Given the description of an element on the screen output the (x, y) to click on. 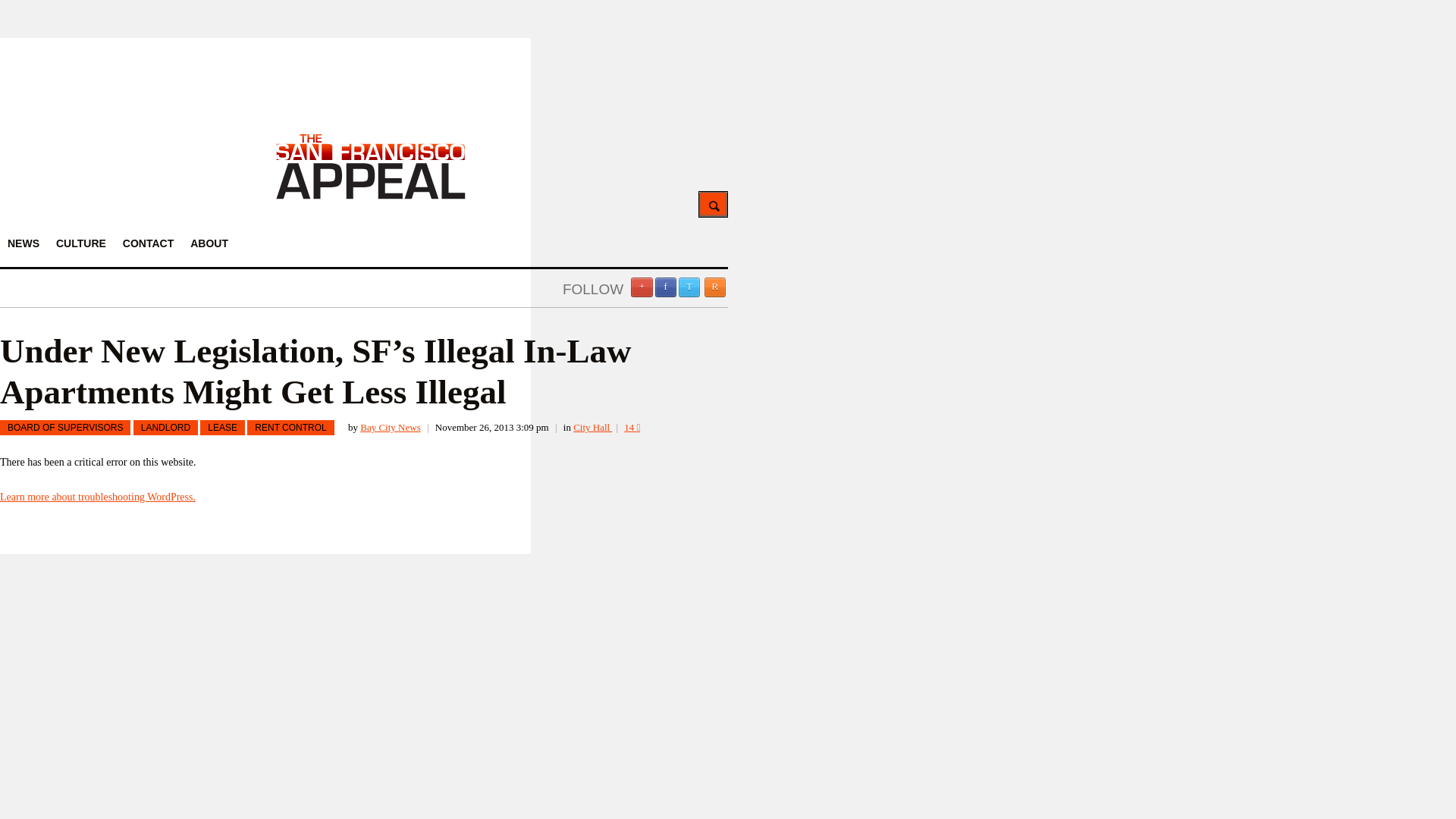
BOARD OF SUPERVISORS (65, 427)
RENT CONTROL (290, 427)
Posts by Bay City News (389, 427)
City Hall (592, 427)
ABOUT (209, 243)
14 (632, 427)
LANDLORD (165, 427)
Search (712, 204)
NEWS (23, 243)
Bay City News (389, 427)
